Given the description of an element on the screen output the (x, y) to click on. 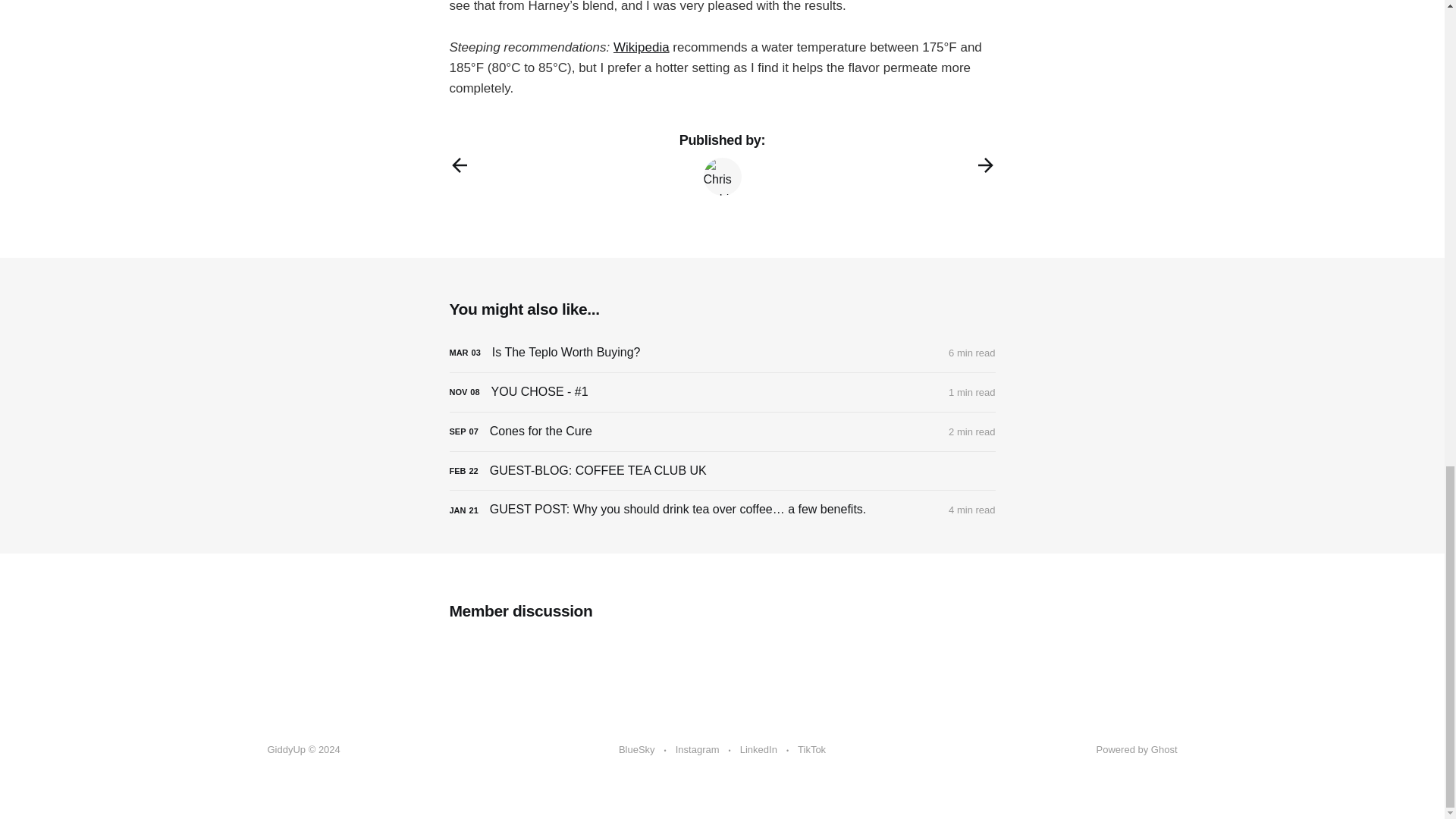
Powered by Ghost (1136, 749)
TikTok (811, 750)
Wikipedia (640, 47)
Wikipedia: Genmaicha (640, 47)
Instagram (697, 750)
BlueSky (636, 750)
LinkedIn (758, 750)
